Given the description of an element on the screen output the (x, y) to click on. 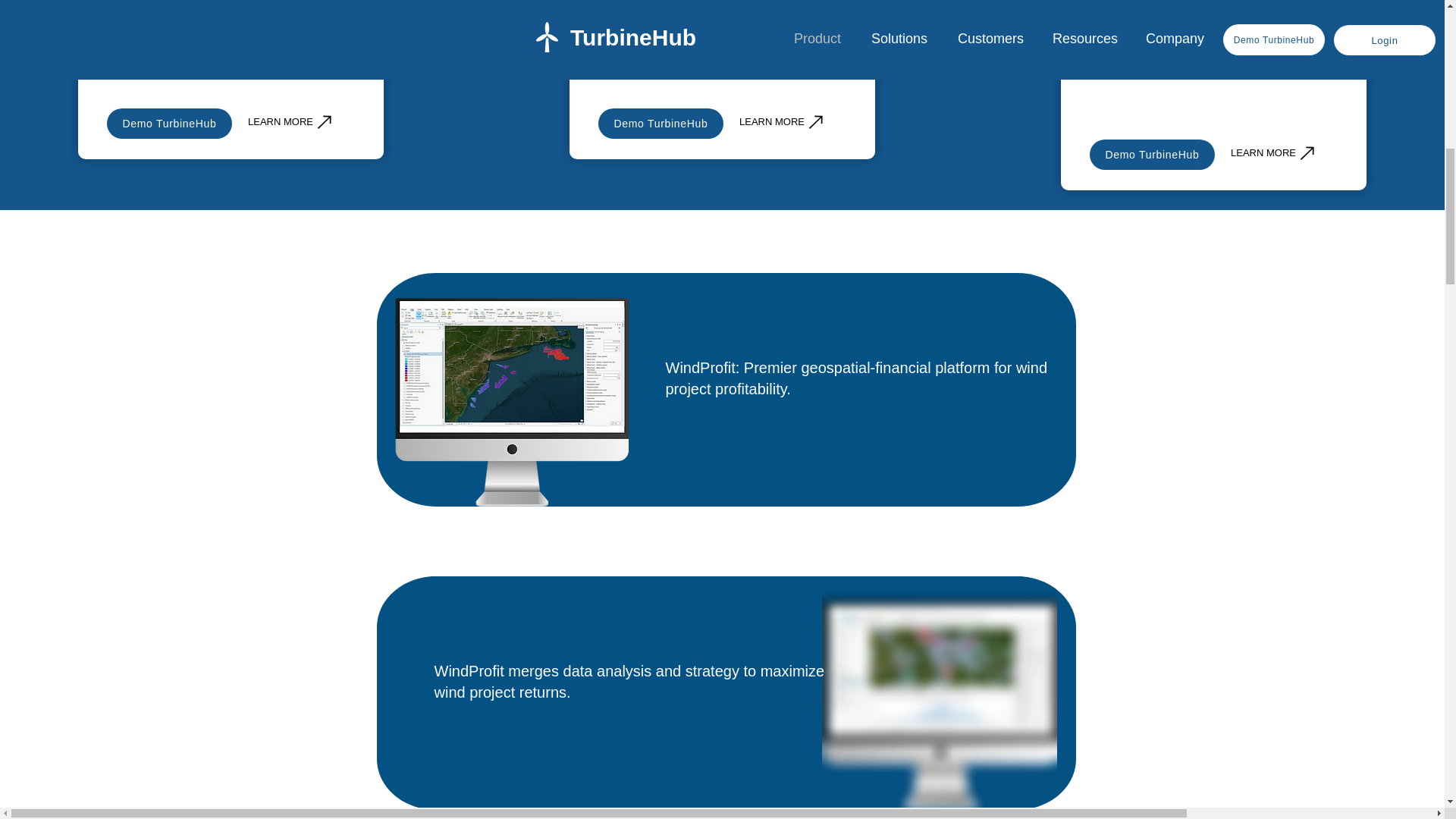
LEARN MORE (782, 121)
Demo TurbineHub (168, 123)
Demo TurbineHub (1151, 154)
LEARN MORE (291, 121)
Demo TurbineHub (660, 123)
LEARN MORE (1274, 152)
